Given the description of an element on the screen output the (x, y) to click on. 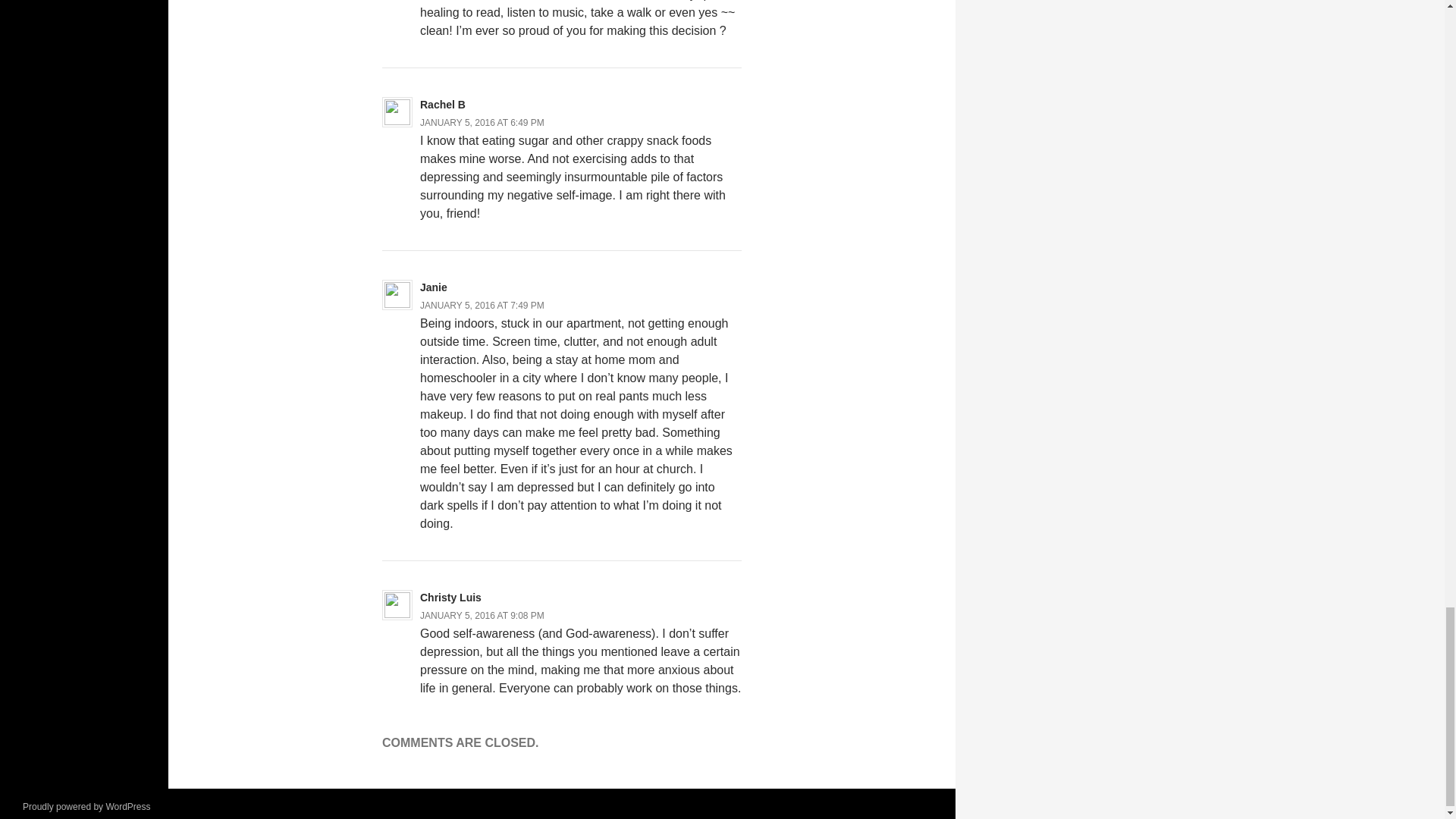
JANUARY 5, 2016 AT 9:08 PM (482, 615)
Christy Luis (450, 597)
JANUARY 5, 2016 AT 6:49 PM (482, 122)
JANUARY 5, 2016 AT 7:49 PM (482, 305)
